Given the description of an element on the screen output the (x, y) to click on. 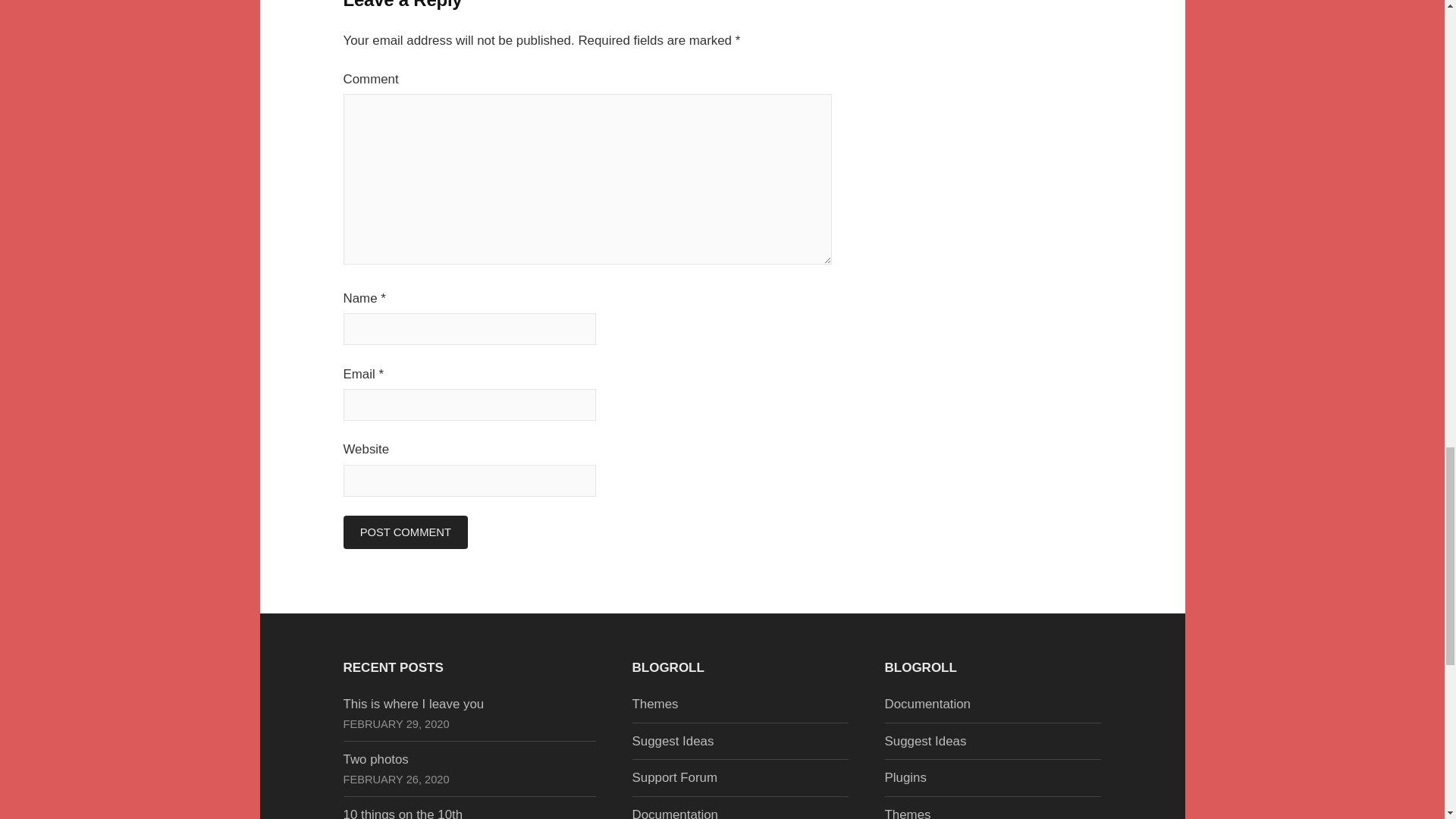
10 things on the 10th (402, 813)
Post Comment (404, 531)
Post Comment (404, 531)
This is where I leave you (412, 703)
Two photos (374, 759)
